Given the description of an element on the screen output the (x, y) to click on. 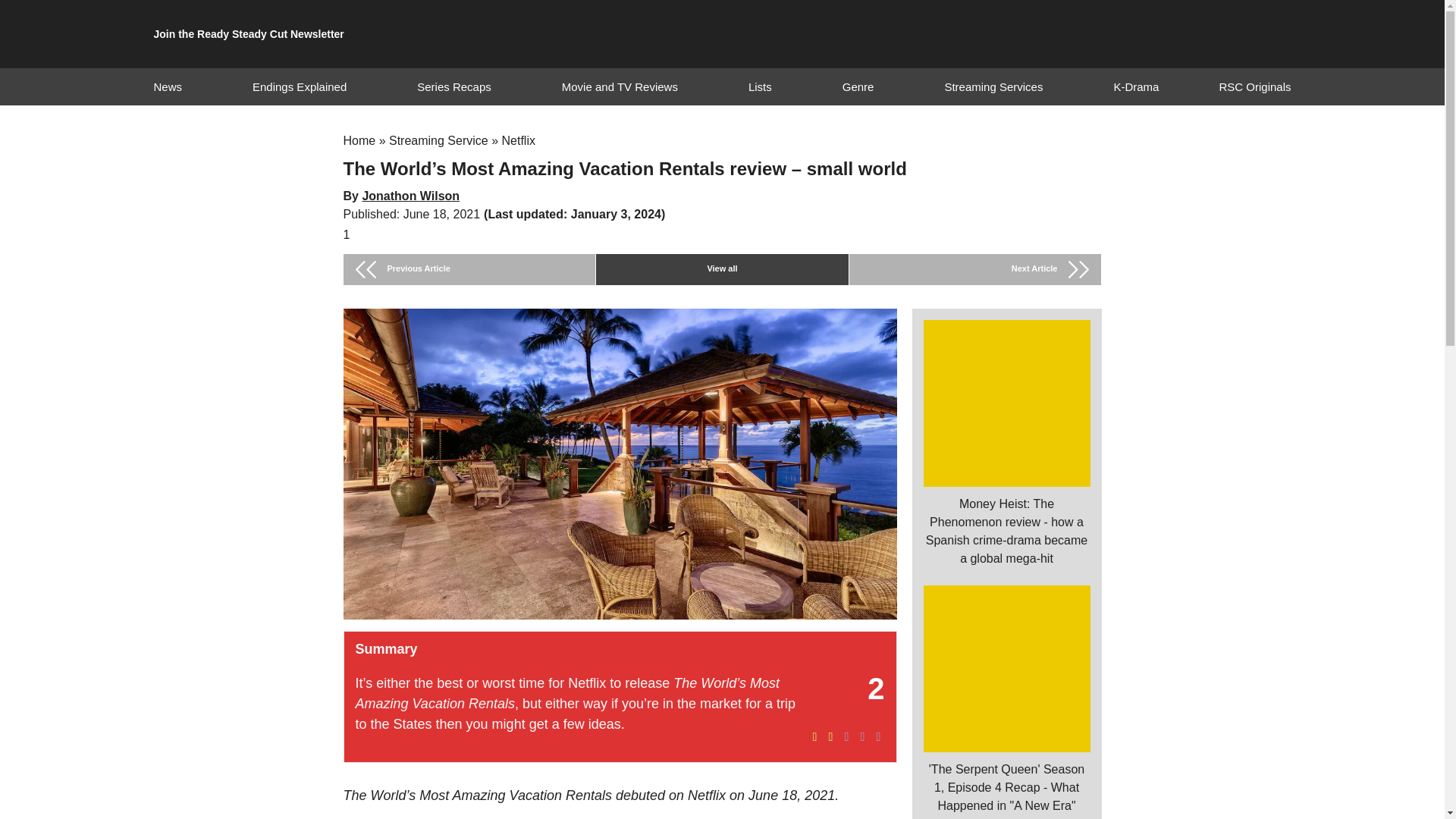
Series Recaps (454, 86)
K-Drama (1135, 86)
Endings Explained (298, 86)
Join the Ready Steady Cut Newsletter (247, 33)
Streaming Services (992, 86)
RSC Originals (1254, 86)
Movie and TV Reviews (620, 86)
